Given the description of an element on the screen output the (x, y) to click on. 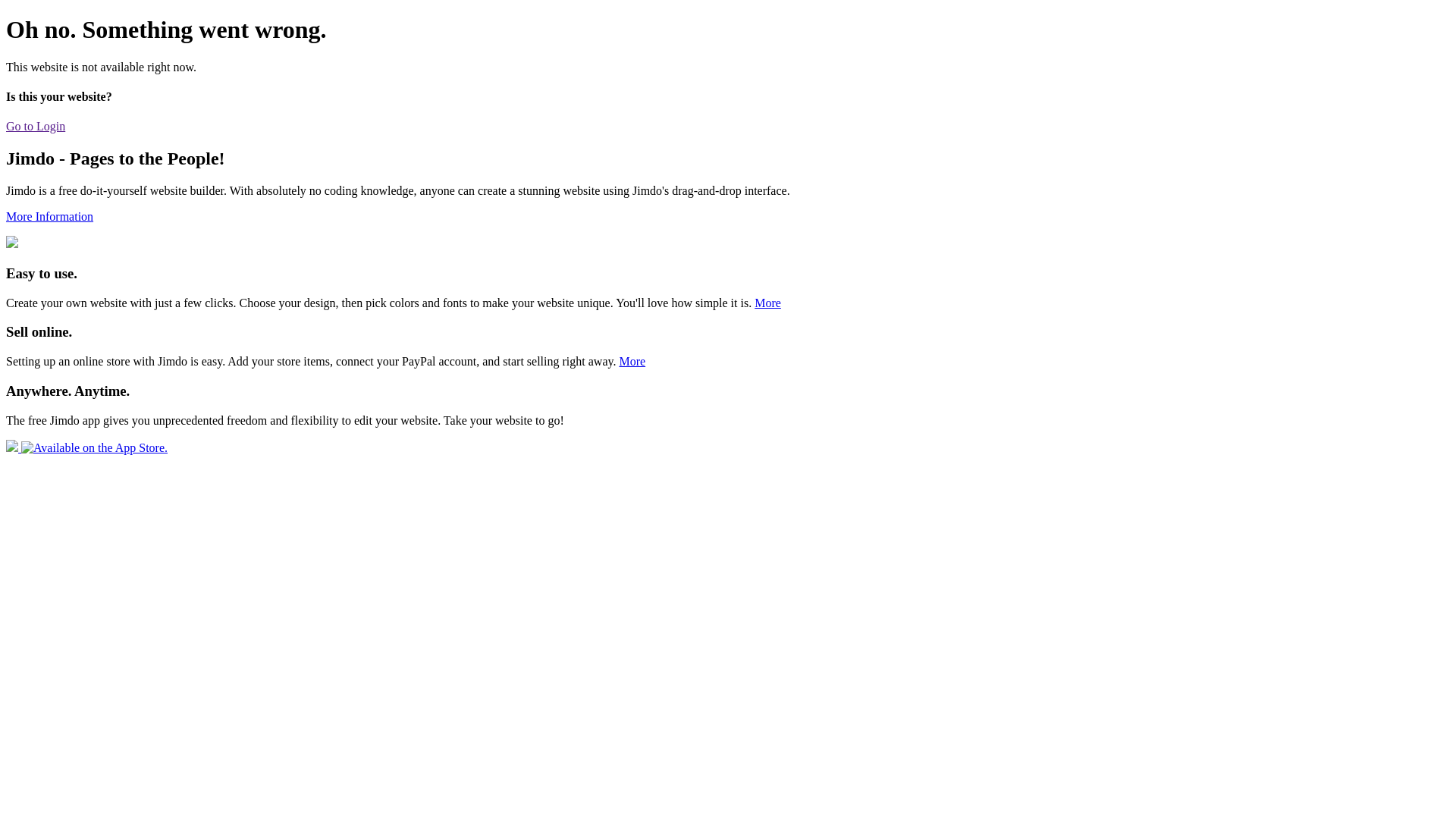
Go to Login Element type: text (35, 125)
More Element type: text (631, 360)
More Information Element type: text (49, 216)
Available on the App Store. Element type: hover (86, 447)
More Element type: text (767, 302)
